Given the description of an element on the screen output the (x, y) to click on. 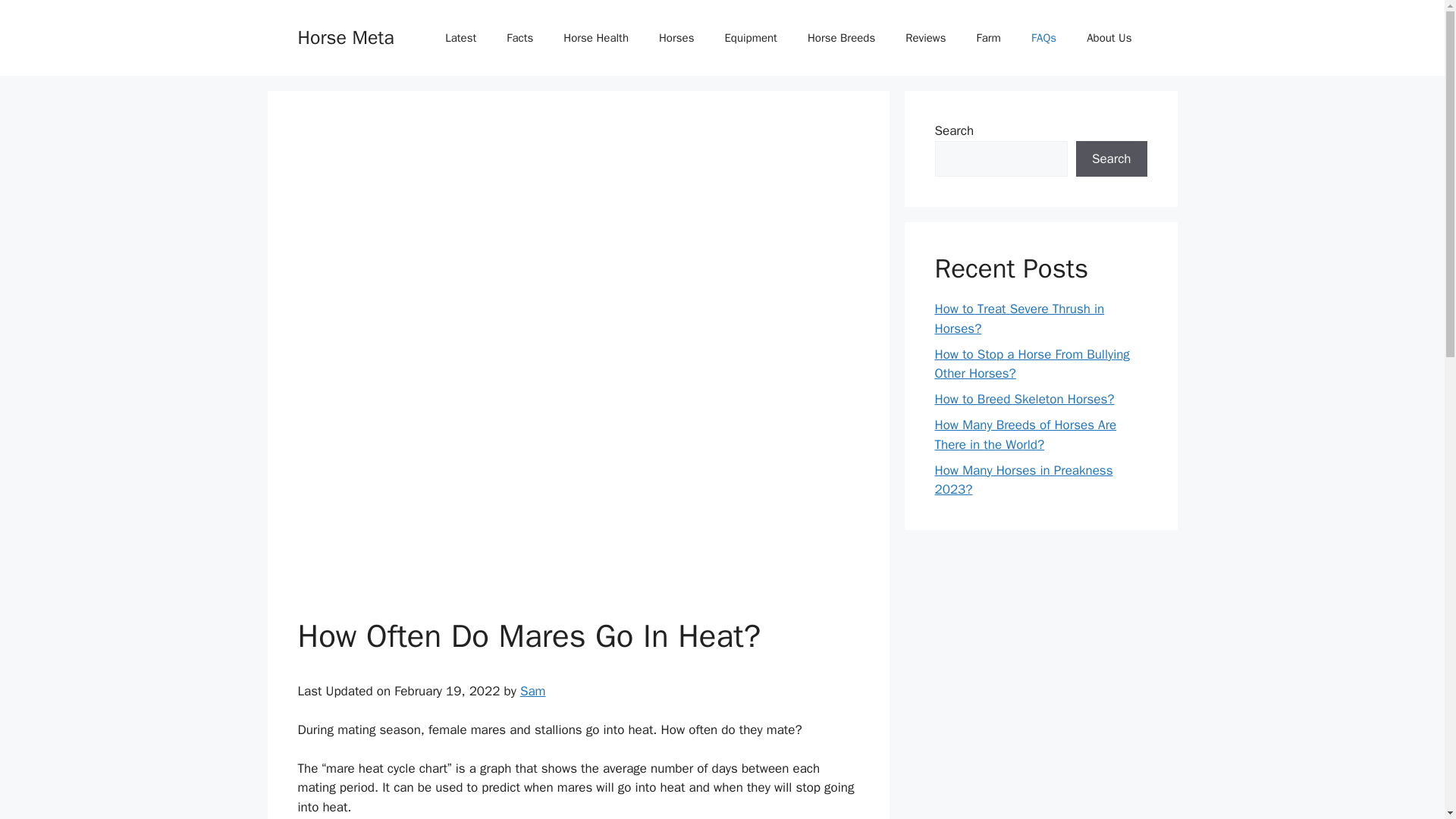
Horse Breeds (840, 37)
Facts (520, 37)
About Us (1109, 37)
How to Stop a Horse From Bullying Other Horses? (1031, 363)
Horse Meta (345, 37)
How Many Horses in Preakness 2023? (1023, 479)
Horse Health (595, 37)
FAQs (1043, 37)
How to Treat Severe Thrush in Horses? (1018, 318)
Horses (676, 37)
Search (1111, 158)
How to Breed Skeleton Horses? (1023, 399)
Sam (532, 691)
Reviews (924, 37)
Equipment (750, 37)
